Given the description of an element on the screen output the (x, y) to click on. 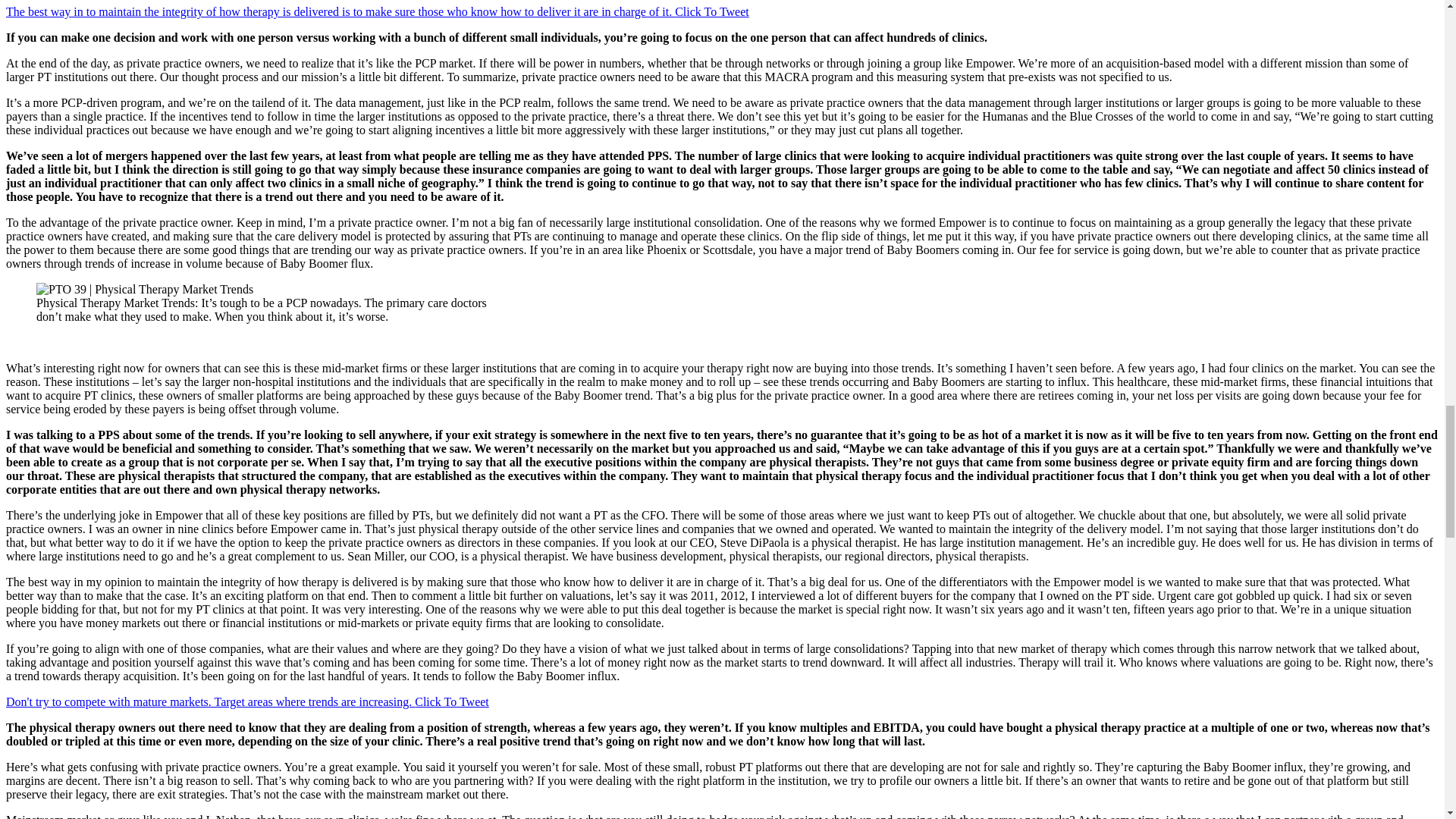
Click To Tweet (712, 11)
Click To Tweet (451, 701)
